Given the description of an element on the screen output the (x, y) to click on. 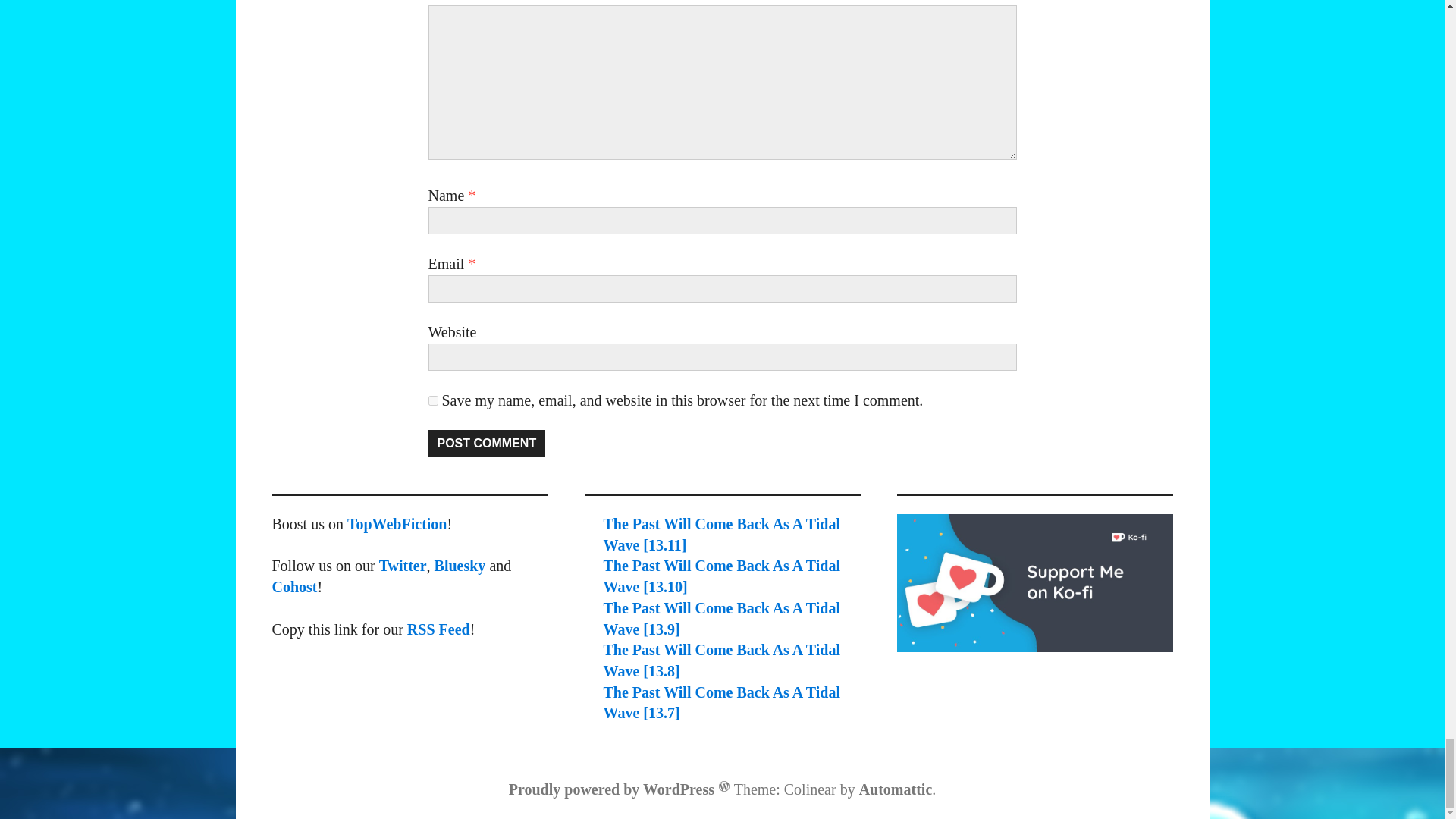
RSS Feed (438, 628)
Twitter (402, 565)
Bluesky (459, 565)
TopWebFiction (396, 523)
Post Comment (486, 443)
yes (433, 400)
Cohost (293, 586)
Post Comment (486, 443)
